Given the description of an element on the screen output the (x, y) to click on. 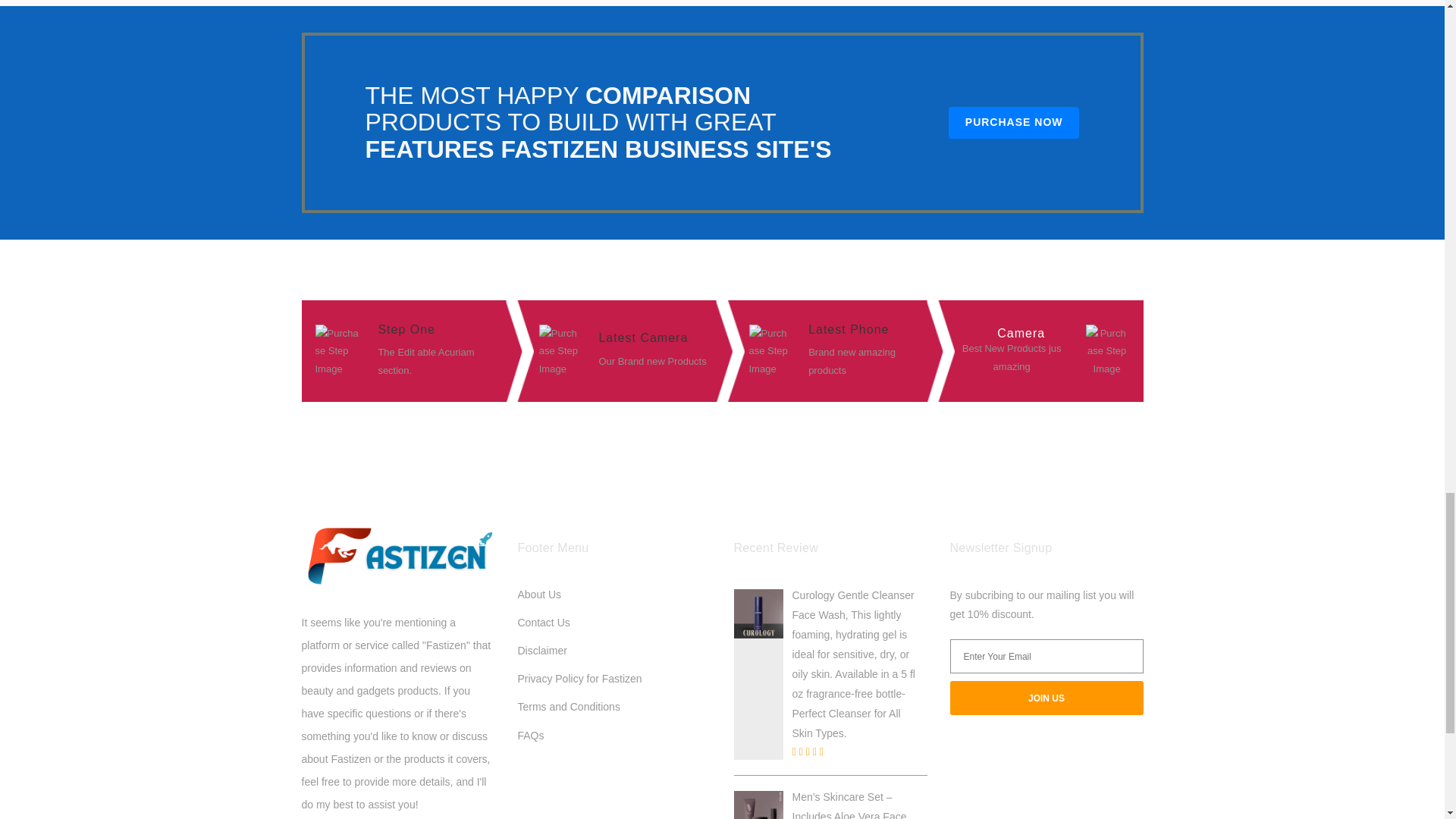
JOIN US (1045, 697)
